Given the description of an element on the screen output the (x, y) to click on. 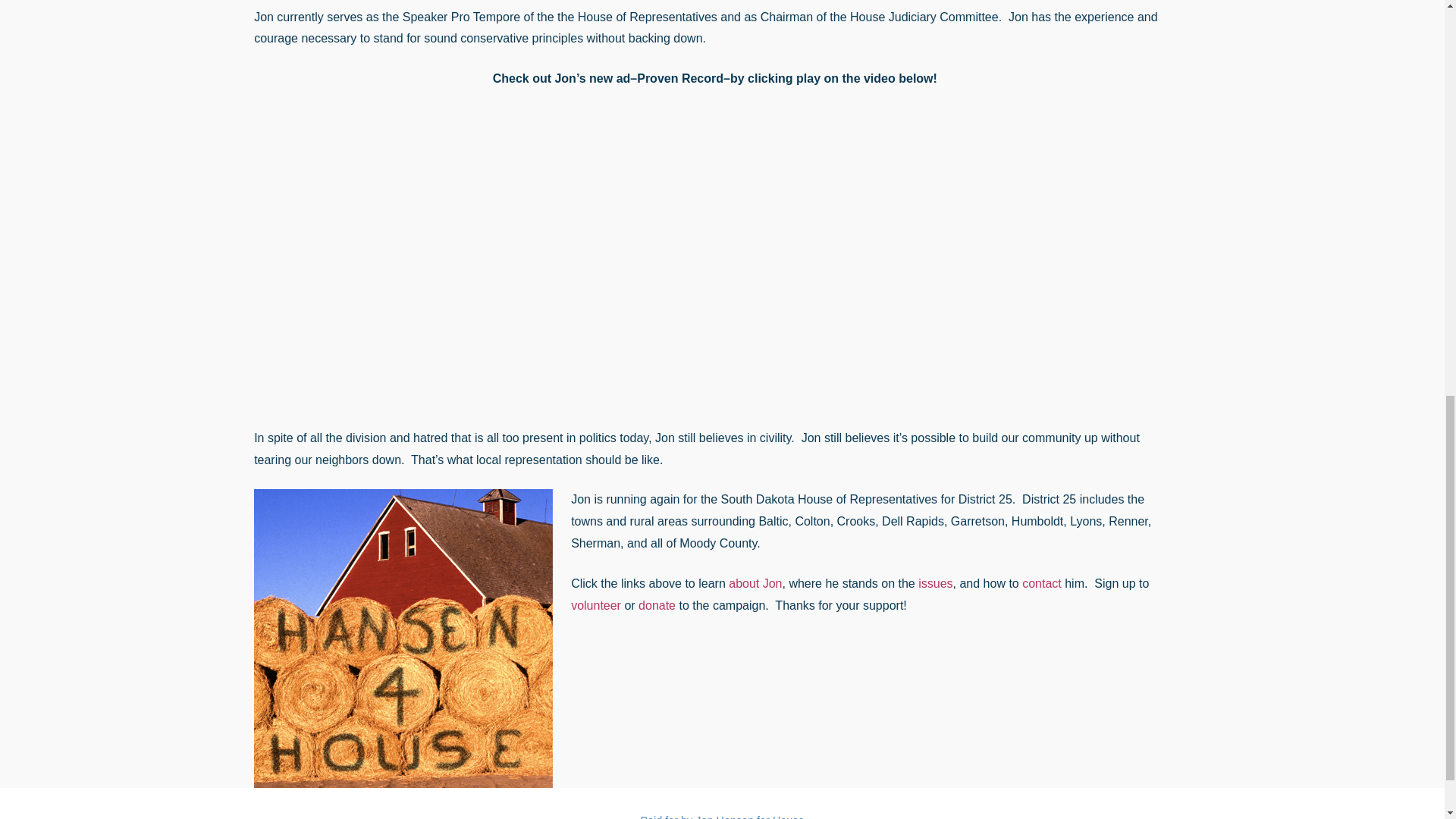
volunteer (595, 604)
donate (657, 604)
contact (1041, 583)
issues (935, 583)
about Jon (755, 583)
